Given the description of an element on the screen output the (x, y) to click on. 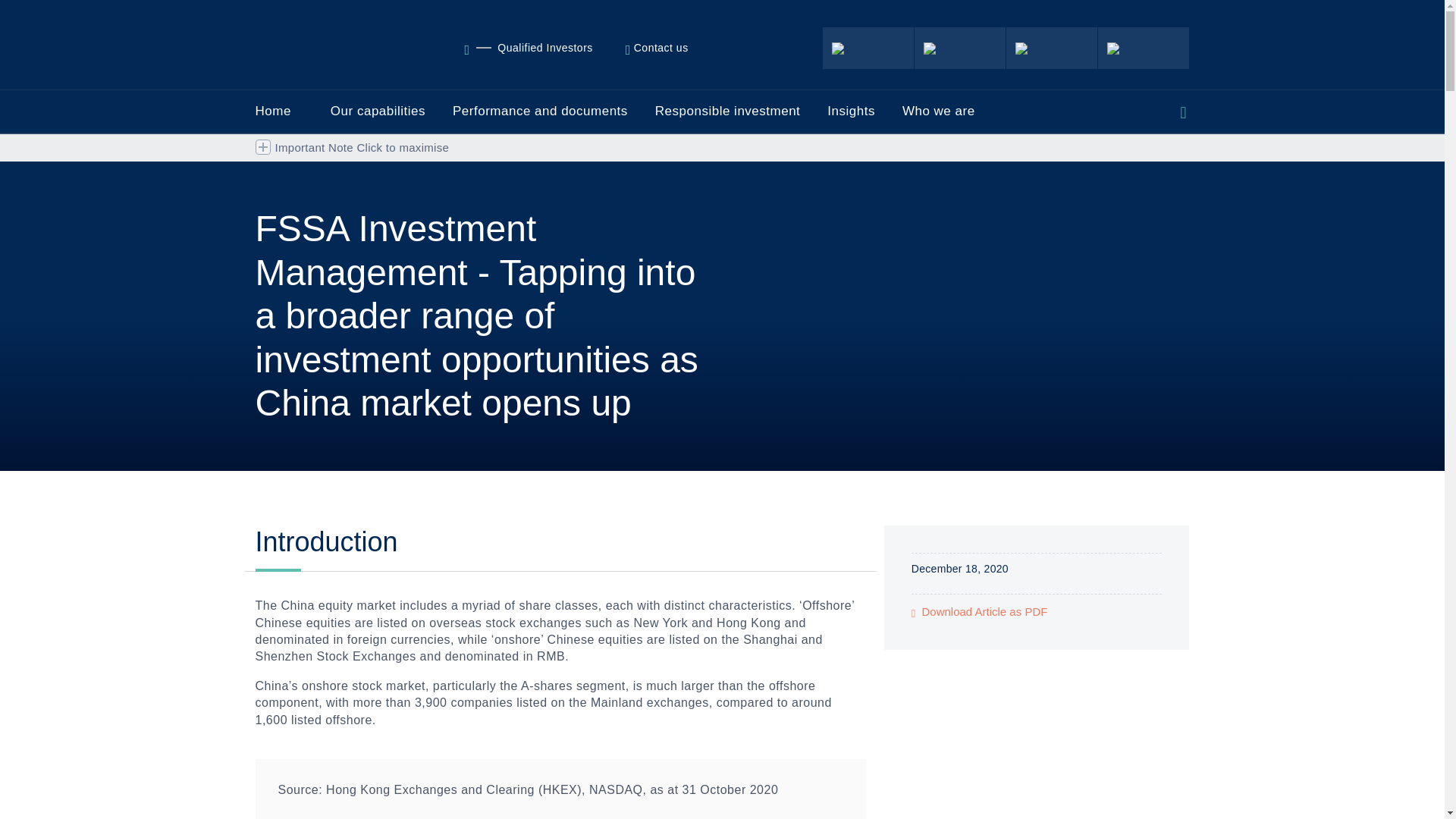
Contact us (663, 47)
Home (536, 47)
